Given the description of an element on the screen output the (x, y) to click on. 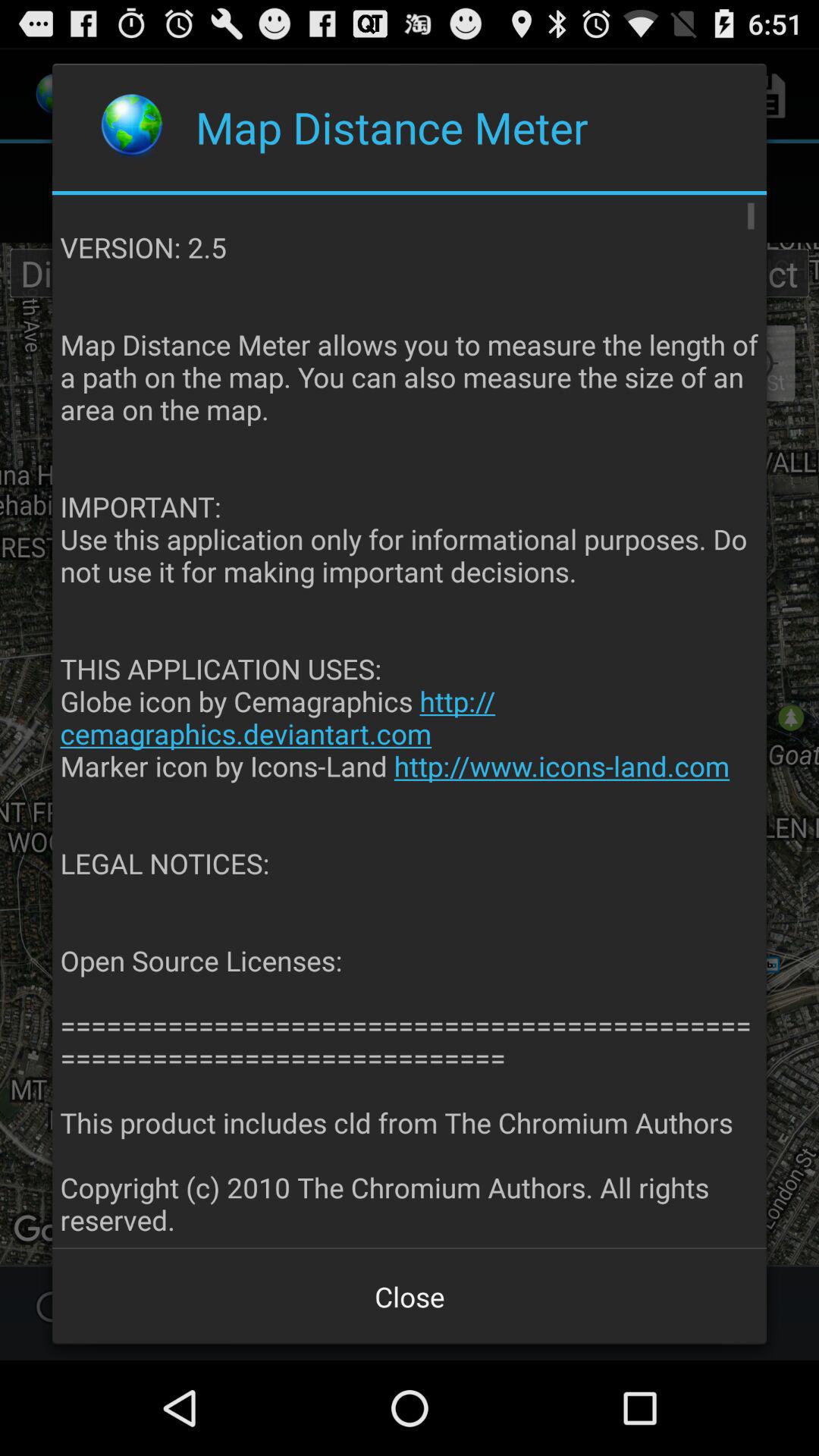
press the app at the center (410, 721)
